Given the description of an element on the screen output the (x, y) to click on. 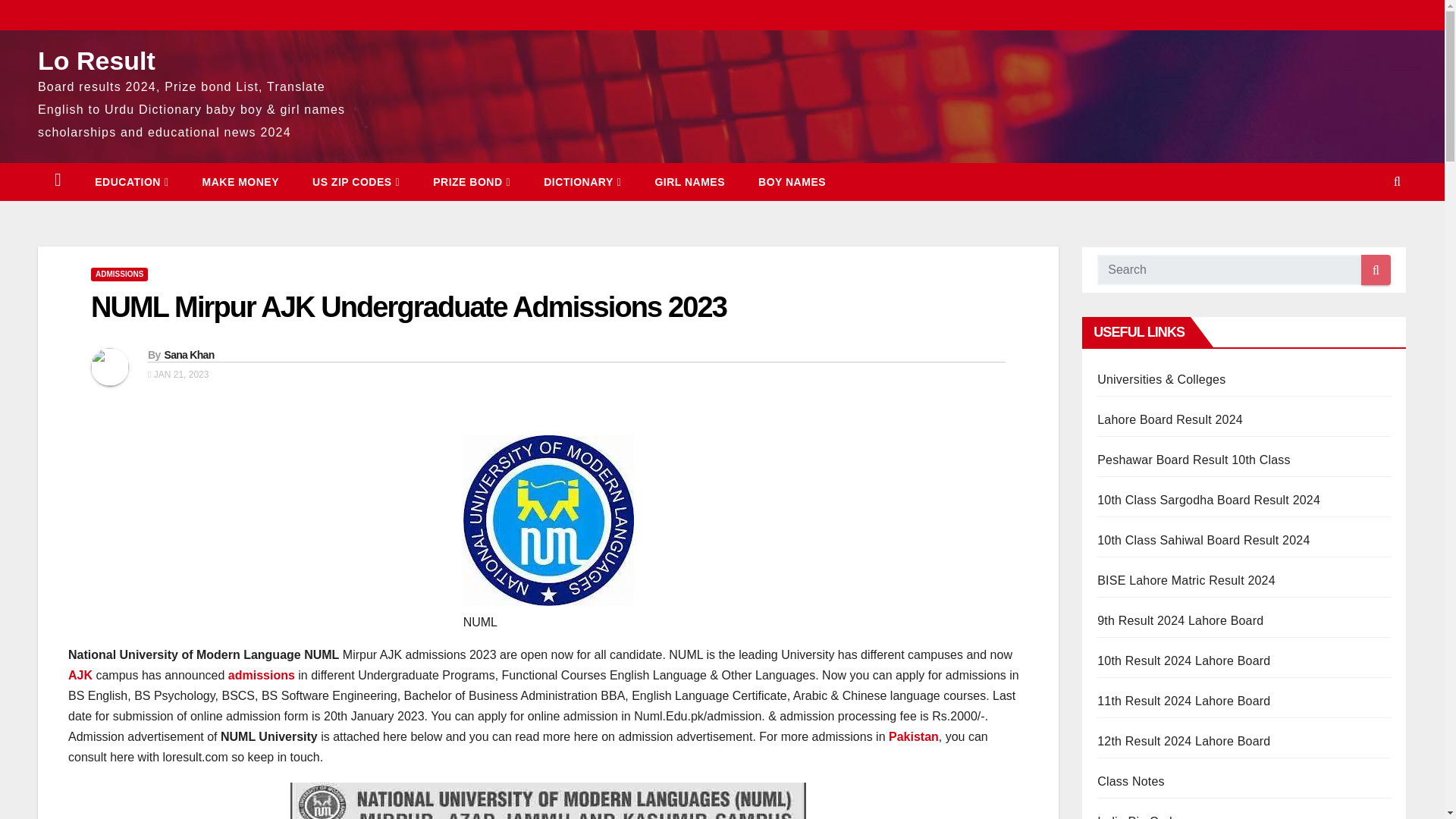
BOY NAMES (792, 181)
Sana Khan (188, 354)
MAKE MONEY (240, 181)
BISE Lahore Result 2024 (1186, 580)
EDUCATION (131, 181)
BISE Lahore 9th Class Result 2024 (1180, 620)
BISE Sargodha Matric, SSC, Matric Result 2024 (1208, 499)
BISE Sahiwal Matric, SSC, Matric Result 2024 (1202, 540)
AJK (80, 675)
NUML Mirpur AJK Undergraduate Admissions 2023 (408, 306)
